Given the description of an element on the screen output the (x, y) to click on. 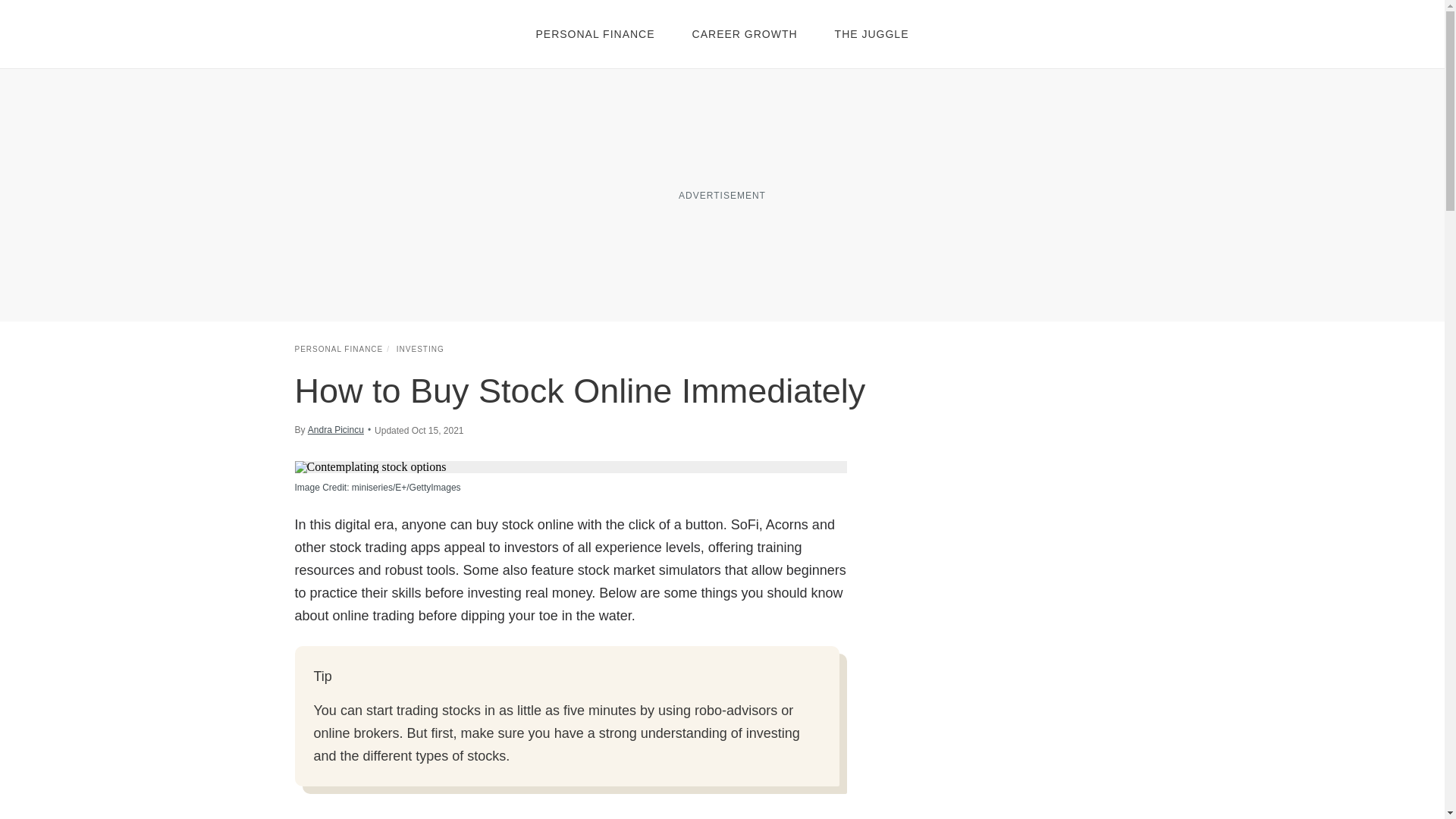
INVESTING (420, 348)
PERSONAL FINANCE (338, 348)
Andra Picincu (335, 429)
